Given the description of an element on the screen output the (x, y) to click on. 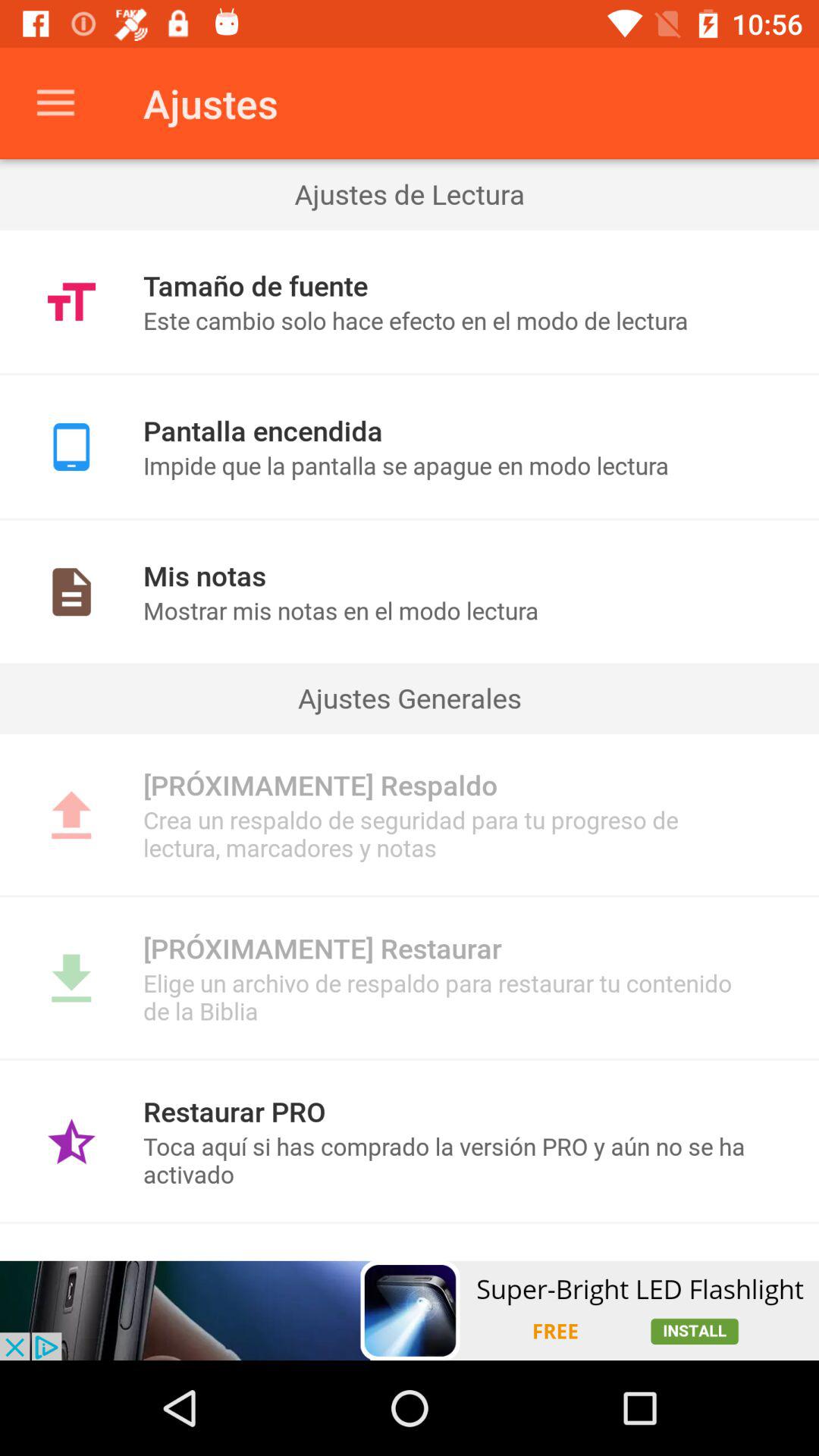
tap icon above the mis notas item (409, 519)
